Given the description of an element on the screen output the (x, y) to click on. 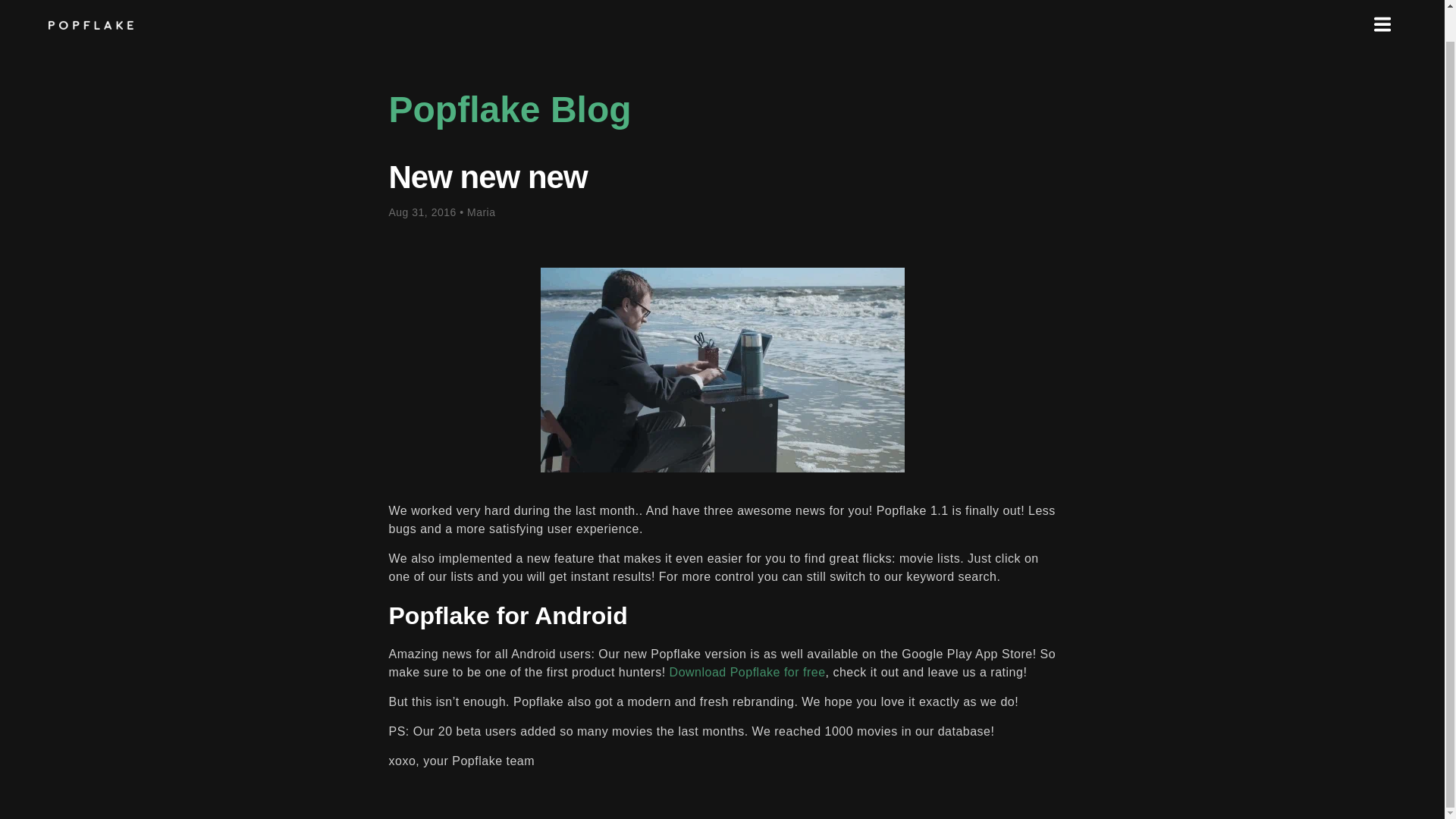
Popflake Blog (509, 109)
Download Popflake for free (747, 671)
POPFLAKE (90, 24)
